Given the description of an element on the screen output the (x, y) to click on. 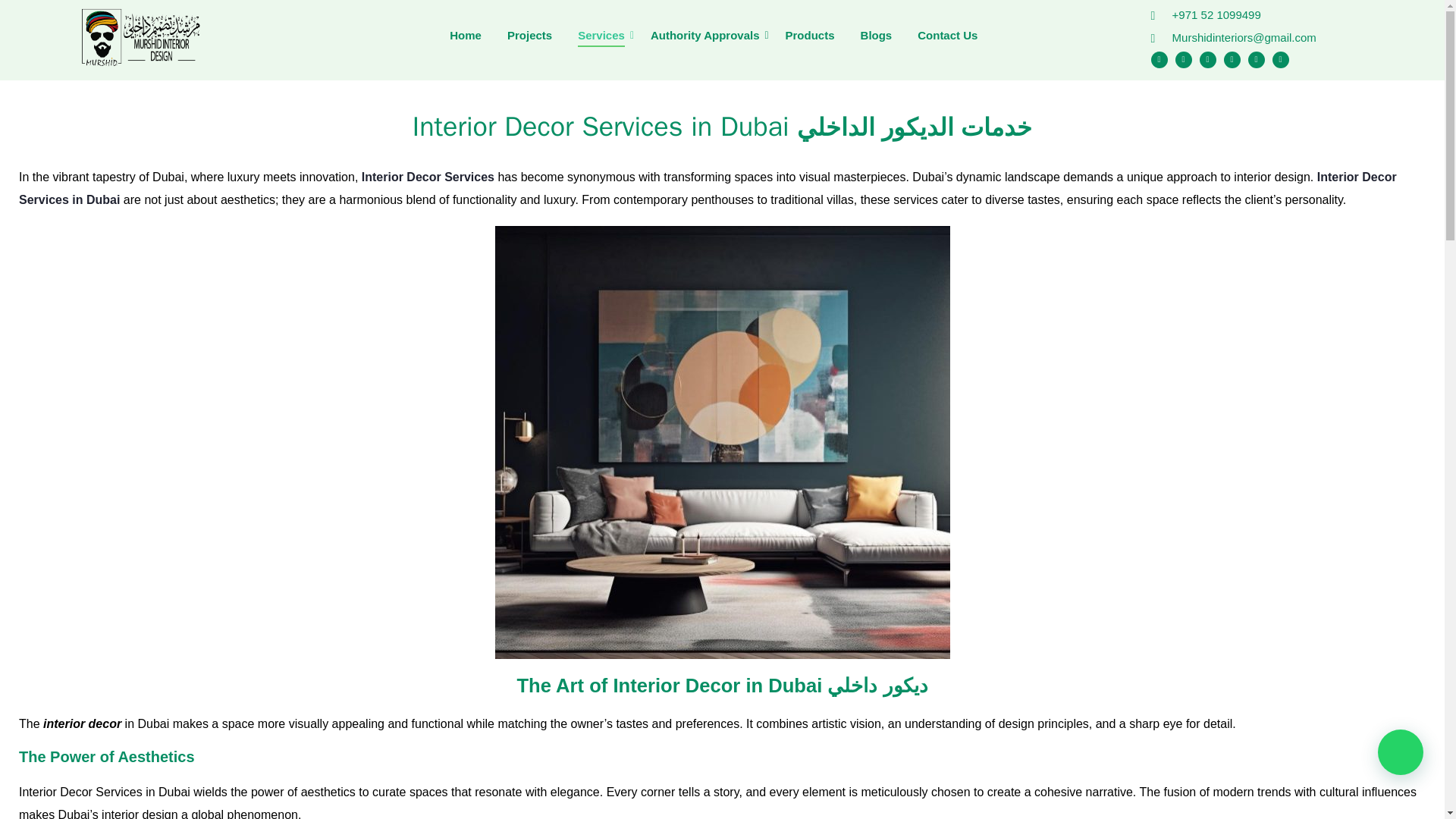
Home (465, 36)
Projects (529, 36)
Blogs (877, 36)
Products (810, 36)
Services (601, 36)
Contact Us (947, 36)
Authority Approvals (705, 36)
